Given the description of an element on the screen output the (x, y) to click on. 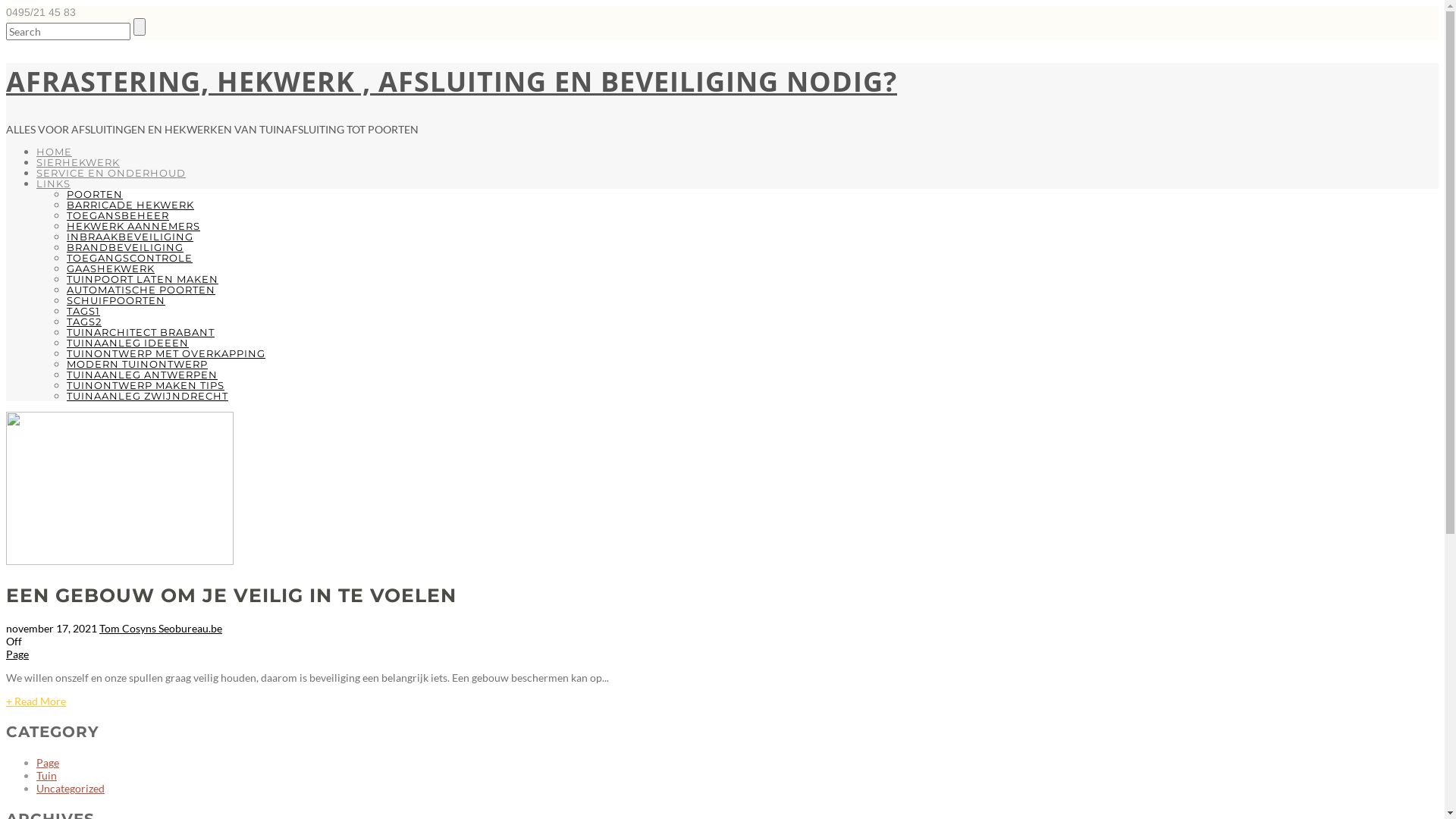
TOEGANGSCONTROLE Element type: text (129, 257)
POORTEN Element type: text (94, 194)
SIERHEKWERK Element type: text (77, 162)
Tuin Element type: text (46, 774)
EEN GEBOUW OM JE VEILIG IN TE VOELEN Element type: text (231, 594)
SERVICE EN ONDERHOUD Element type: text (110, 172)
MODERN TUINONTWERP Element type: text (136, 363)
AUTOMATISCHE POORTEN Element type: text (140, 289)
TAGS1 Element type: text (83, 310)
Uncategorized Element type: text (70, 787)
TUINAANLEG IDEEEN Element type: text (127, 342)
GAASHEKWERK Element type: text (110, 268)
TUINARCHITECT BRABANT Element type: text (140, 332)
HOME Element type: text (54, 151)
november 17, 2021 Element type: text (51, 627)
TUINONTWERP MET OVERKAPPING Element type: text (165, 353)
TUINPOORT LATEN MAKEN Element type: text (142, 279)
TAGS2 Element type: text (83, 321)
LINKS Element type: text (53, 183)
Page Element type: text (47, 762)
+ Read More Element type: text (35, 700)
TOEGANSBEHEER Element type: text (117, 215)
TUINONTWERP MAKEN TIPS Element type: text (145, 385)
BARRICADE HEKWERK Element type: text (130, 204)
TUINAANLEG ANTWERPEN Element type: text (141, 374)
Page Element type: text (17, 653)
Tom Cosyns Seobureau.be Element type: text (160, 627)
HEKWERK AANNEMERS Element type: text (133, 225)
AFRASTERING, HEKWERK , AFSLUITING EN BEVEILIGING NODIG? Element type: text (451, 81)
INBRAAKBEVEILIGING Element type: text (129, 236)
SCHUIFPOORTEN Element type: text (115, 300)
BRANDBEVEILIGING Element type: text (124, 247)
TUINAANLEG ZWIJNDRECHT Element type: text (147, 395)
